Given the description of an element on the screen output the (x, y) to click on. 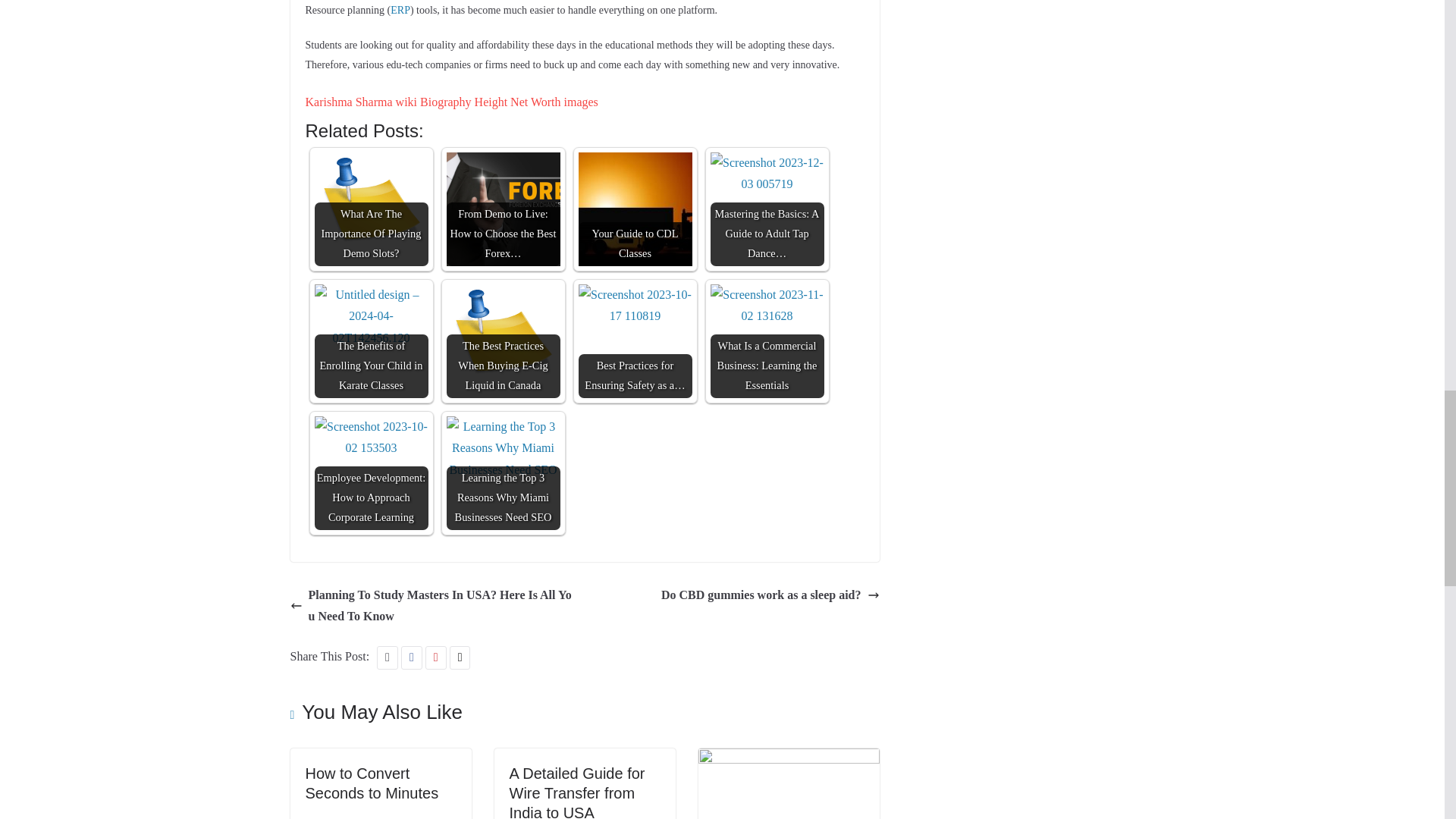
The Best Practices When Buying E-Cig Liquid in Canada (502, 341)
What Are The Importance Of Playing Demo Slots? (371, 209)
ERP (400, 9)
What Is a Commercial Business: Learning the Essentials (767, 341)
Do CBD gummies work as a sleep aid? (770, 595)
Learning the Top 3 Reasons Why Miami Businesses Need SEO (502, 448)
Employee Development: How to Approach Corporate Learning (371, 438)
Learning the Top 3 Reasons Why Miami Businesses Need SEO (502, 472)
Your Guide to CDL Classes (634, 209)
